Given the description of an element on the screen output the (x, y) to click on. 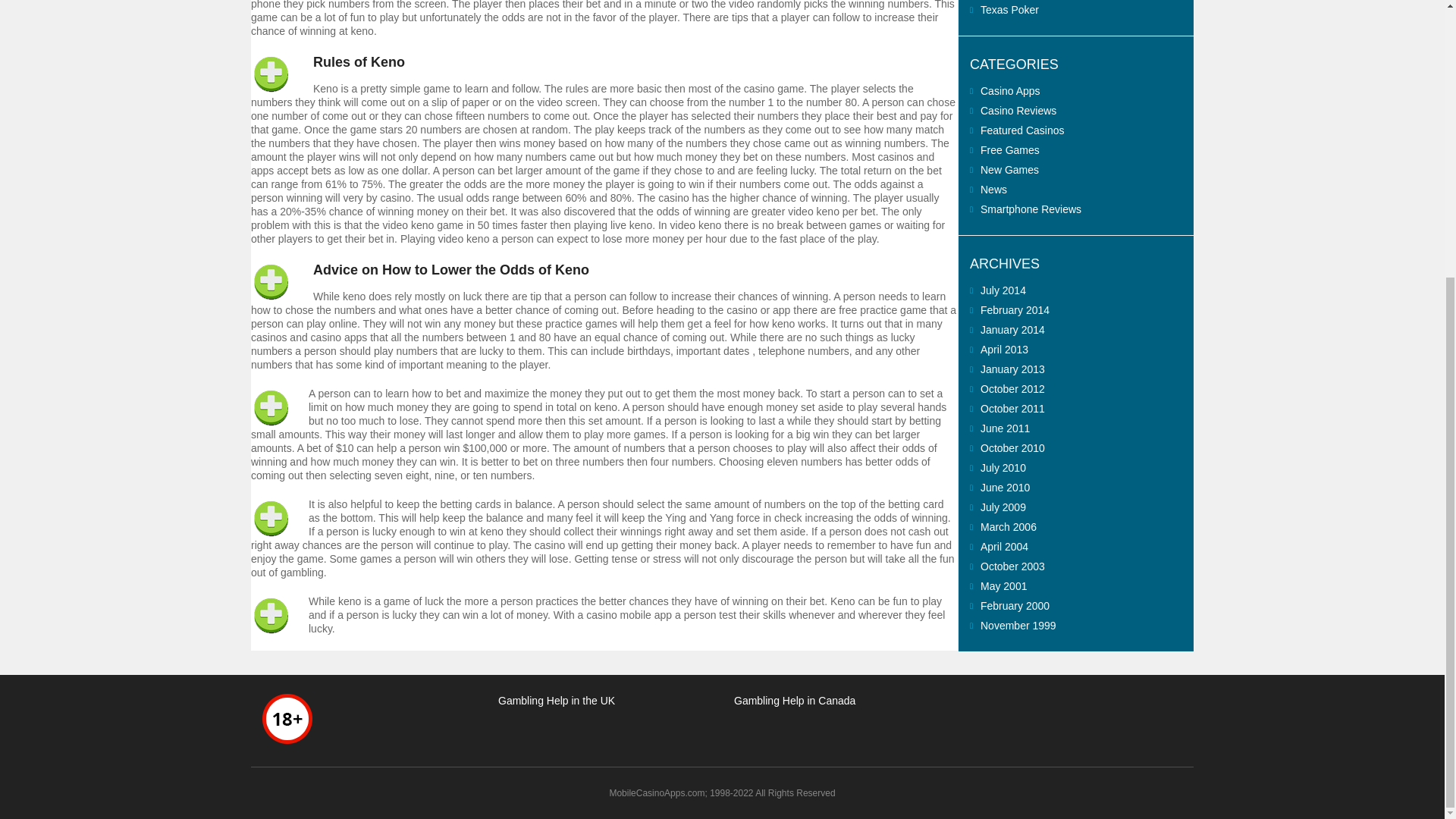
Texas Poker (1009, 9)
Featured Casinos (1021, 130)
Casino Reviews (1018, 110)
Casino Apps (1010, 91)
Free Games (1009, 150)
